Given the description of an element on the screen output the (x, y) to click on. 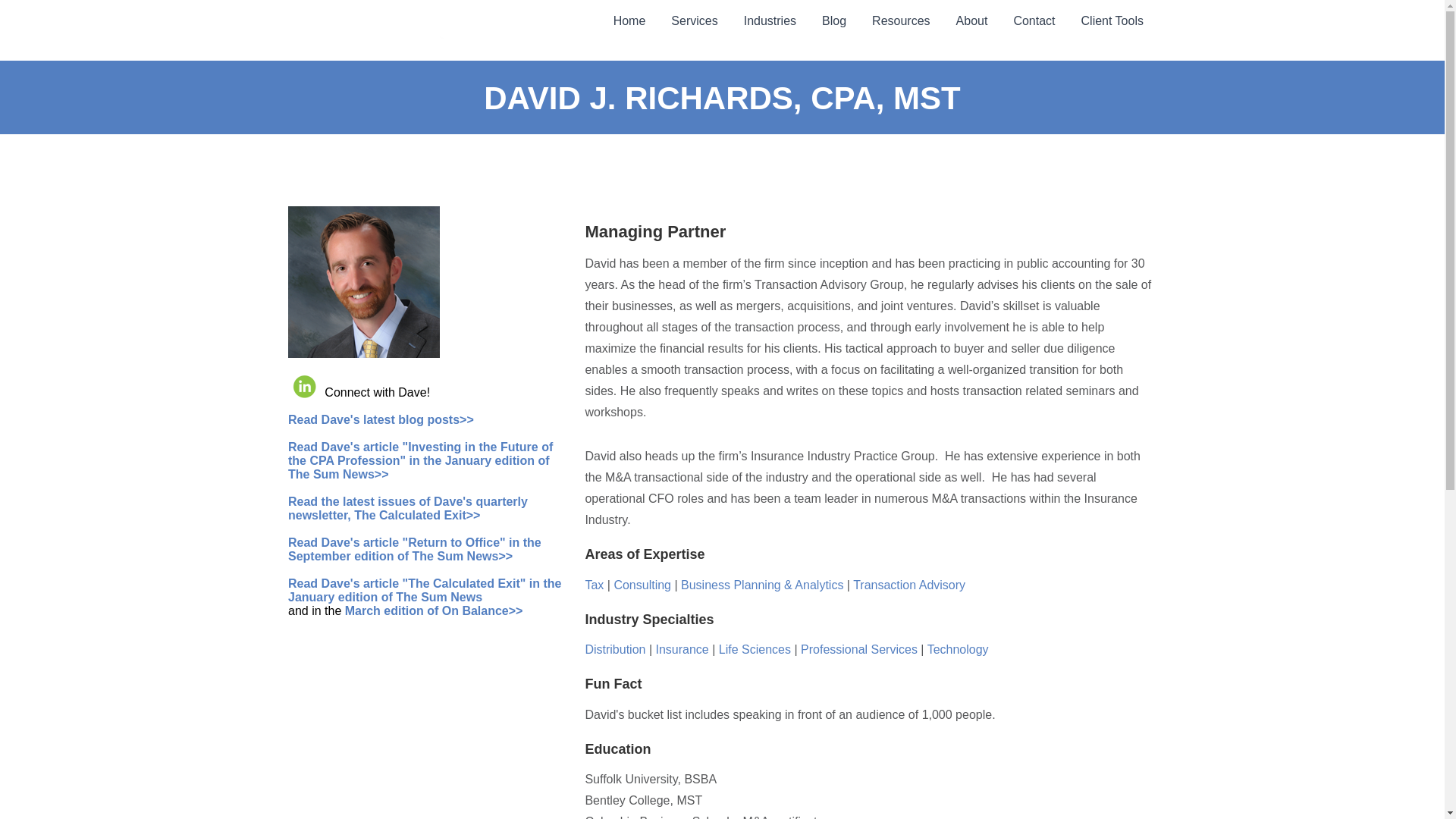
About (972, 24)
Resources (900, 24)
Blog (834, 24)
Home (629, 24)
Industries (769, 24)
white.png (369, 34)
Services (694, 24)
